Given the description of an element on the screen output the (x, y) to click on. 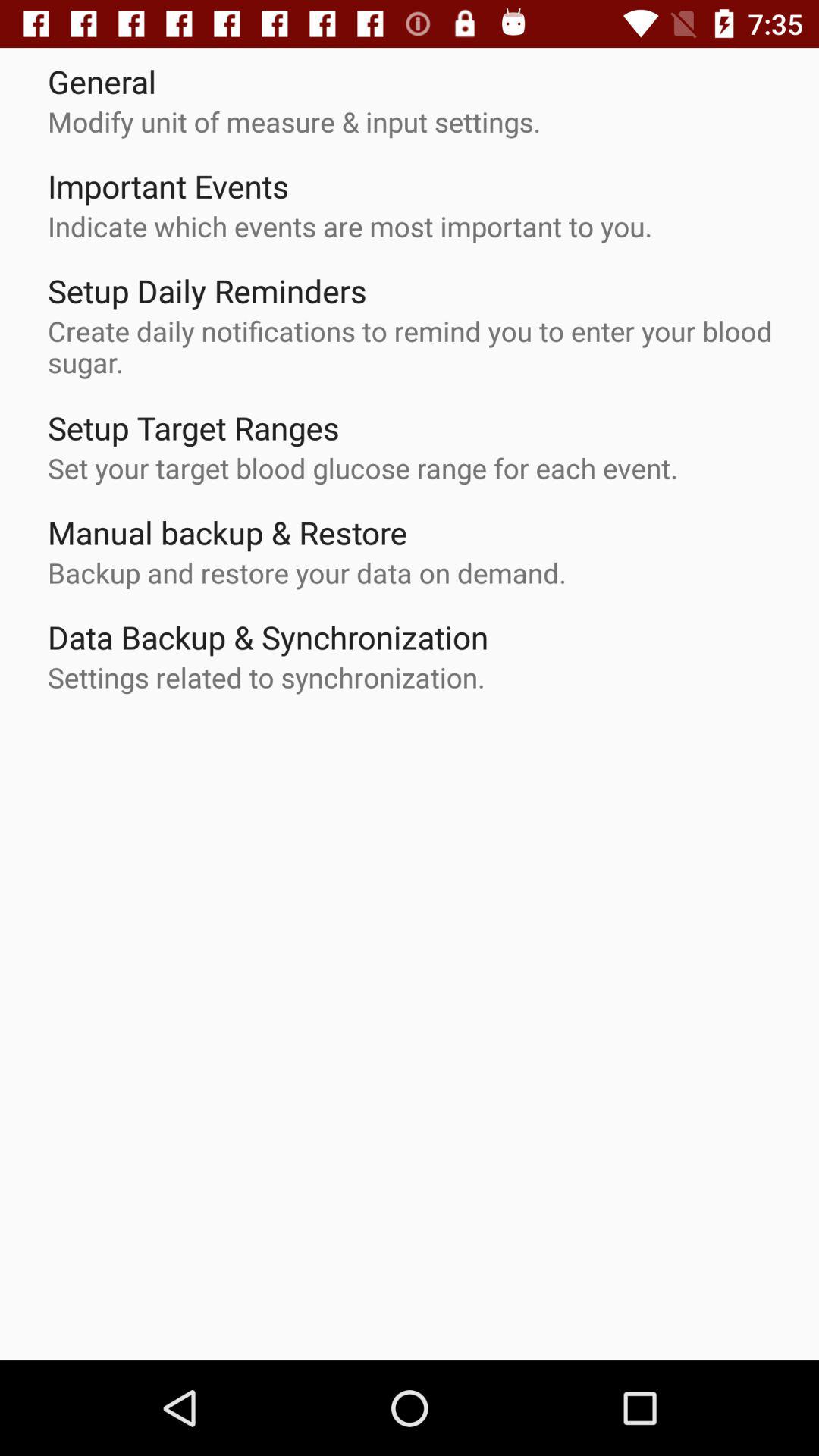
click set your target (362, 467)
